Given the description of an element on the screen output the (x, y) to click on. 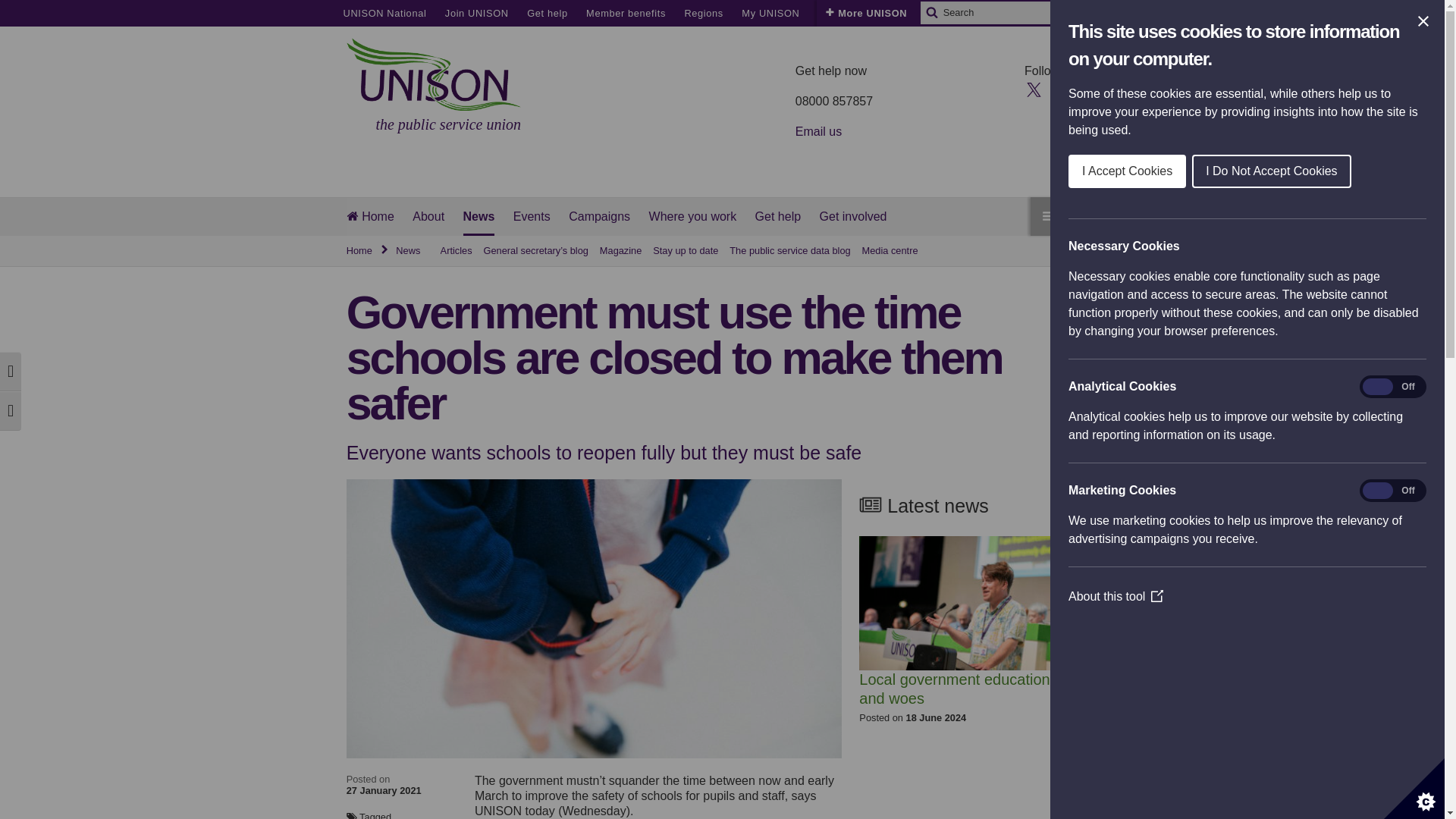
Member benefits (625, 13)
Get help (547, 13)
UNISON National (384, 13)
More UNISON (865, 13)
Other sites (844, 13)
My UNISON (770, 13)
Regions (703, 13)
the public service union (433, 85)
